Given the description of an element on the screen output the (x, y) to click on. 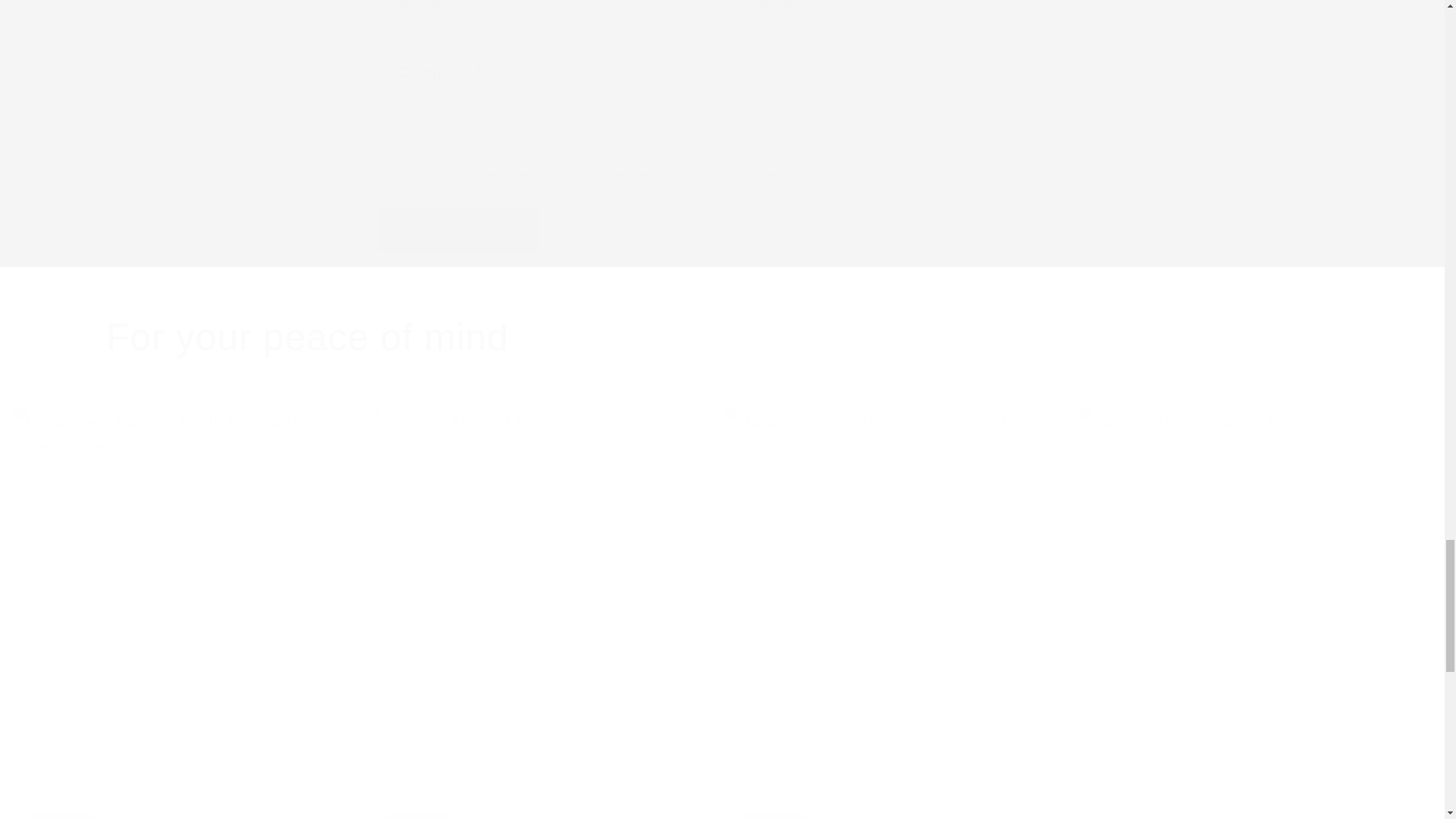
Post comment (457, 228)
For your peace of mind (722, 337)
